Given the description of an element on the screen output the (x, y) to click on. 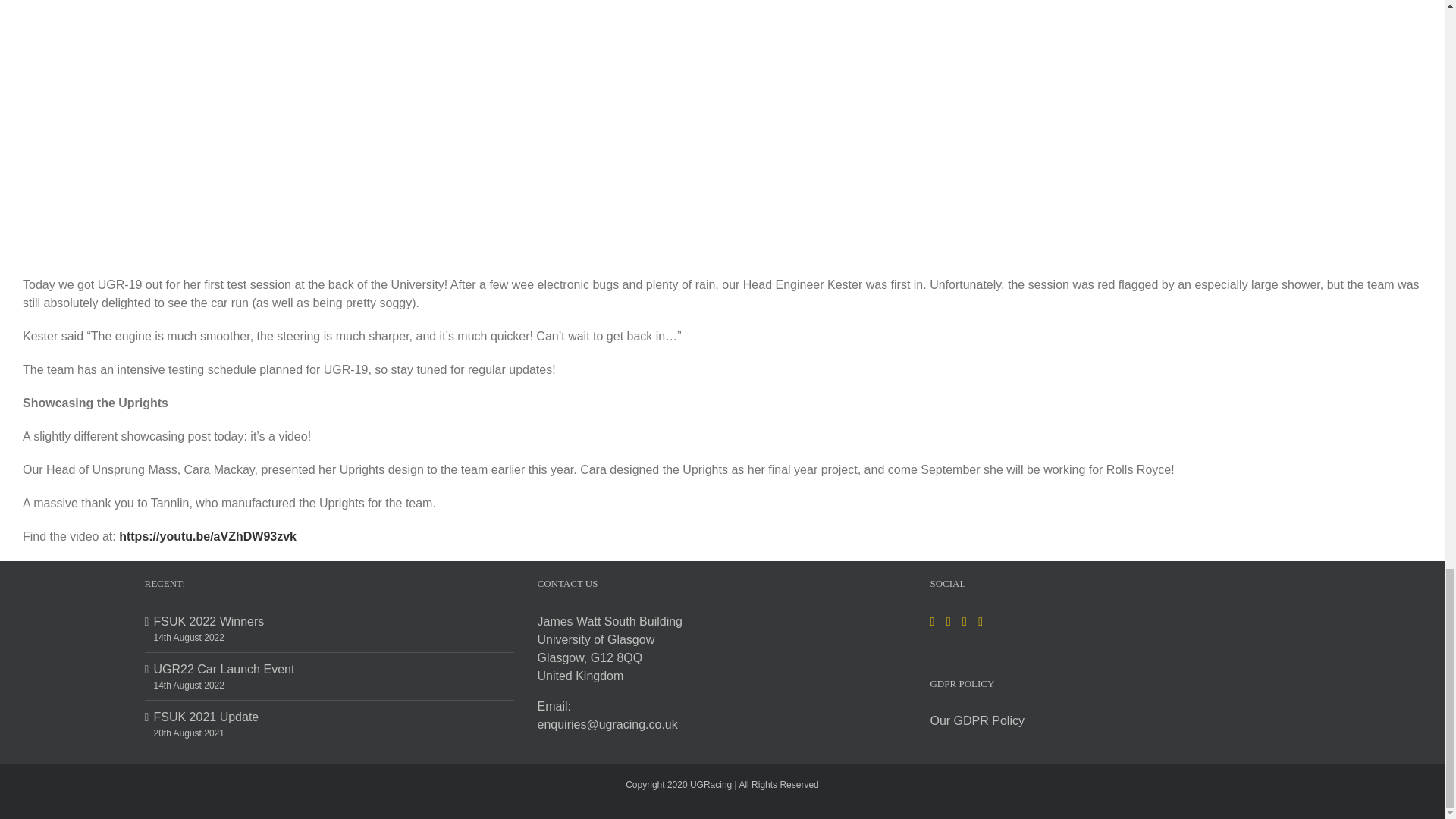
FSUK 2021 Update (329, 717)
FSUK 2022 Winners (329, 621)
Our GDPR Policy (976, 720)
UGR22 Car Launch Event (329, 669)
